Given the description of an element on the screen output the (x, y) to click on. 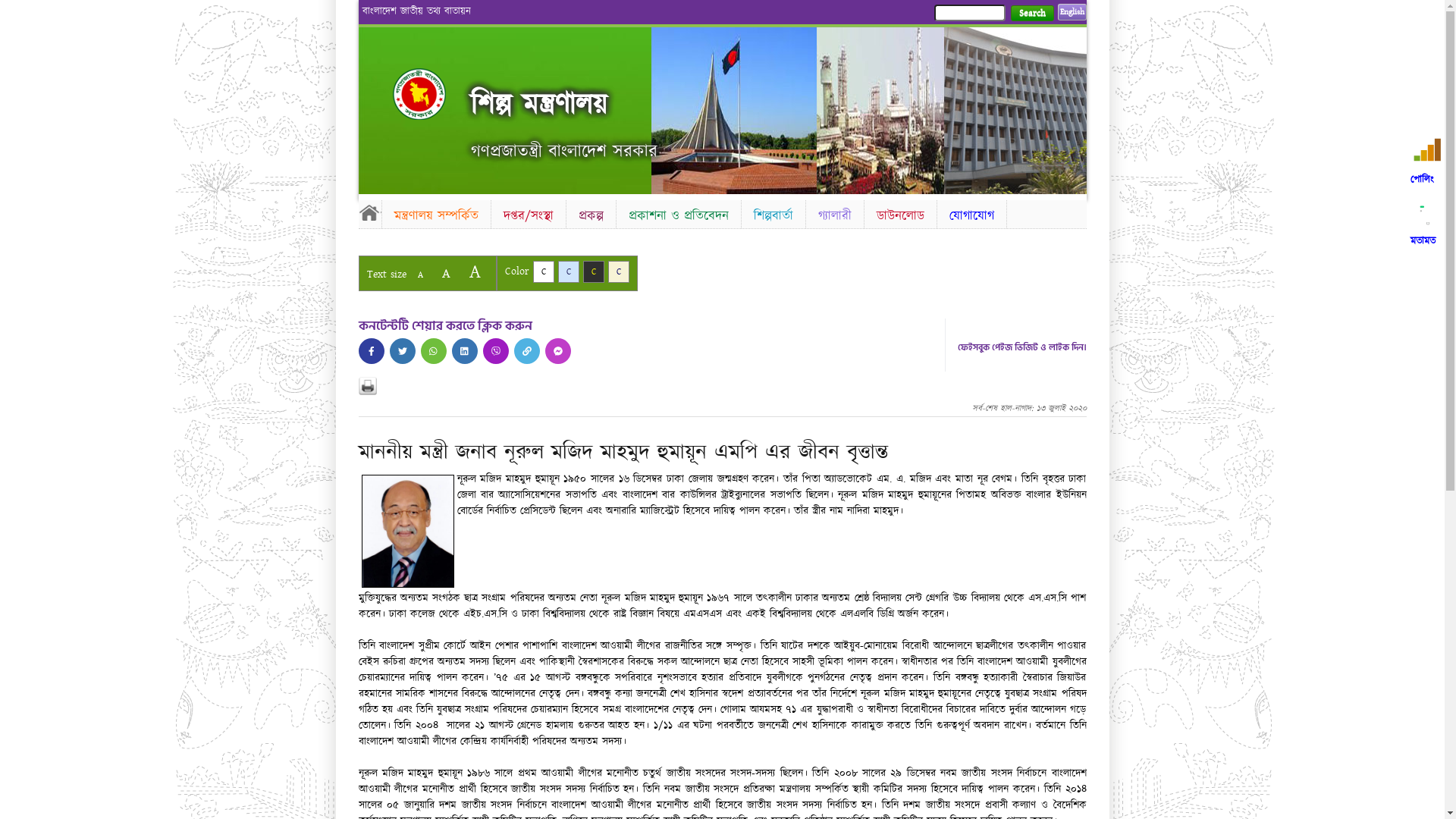
Home Element type: hover (431, 93)
C Element type: text (568, 271)
C Element type: text (618, 271)
C Element type: text (542, 271)
Search Element type: text (1031, 13)
Home Element type: hover (368, 211)
English Element type: text (1071, 11)
A Element type: text (419, 274)
A Element type: text (474, 271)
A Element type: text (445, 273)
C Element type: text (592, 271)
